Given the description of an element on the screen output the (x, y) to click on. 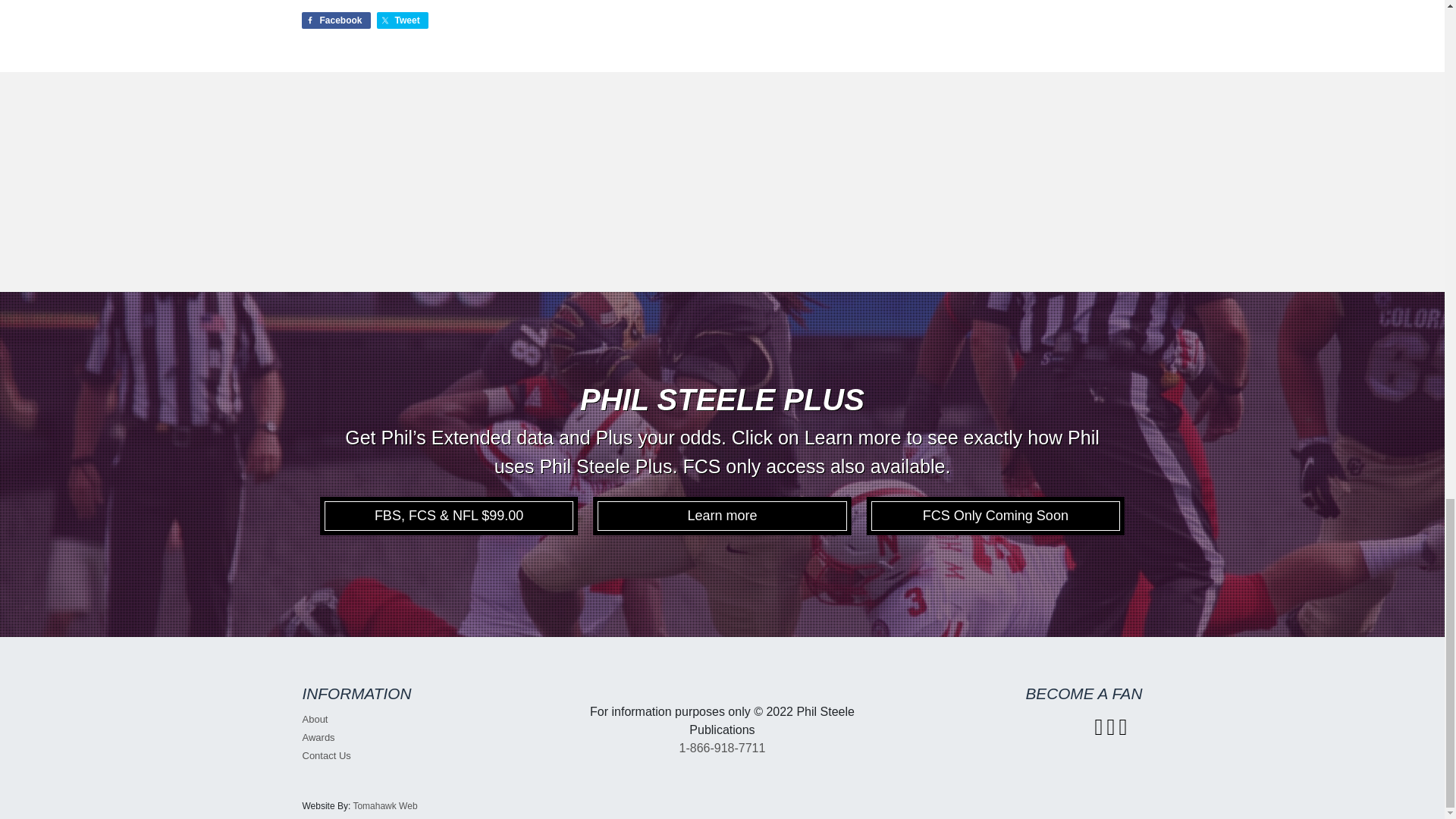
Awards (317, 737)
Tomahawk Web (384, 805)
Contact Us (325, 755)
Tweet (402, 20)
Learn more (721, 515)
FCS Only Coming Soon (995, 515)
1-866-918-7711 (722, 748)
Facebook (336, 20)
Share on Facebook (336, 20)
About (314, 718)
Share on Twitter (402, 20)
